Given the description of an element on the screen output the (x, y) to click on. 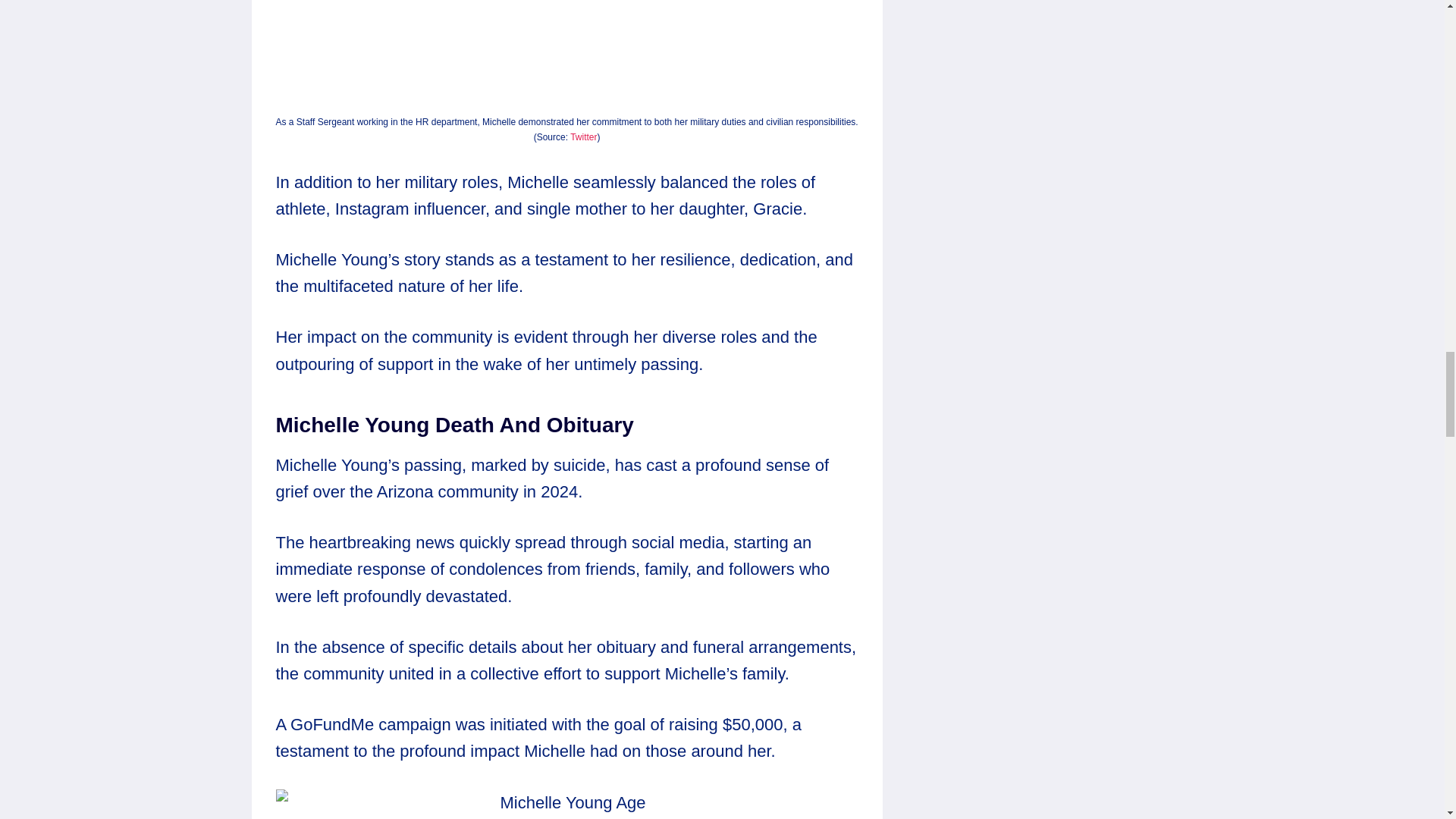
Twitter (583, 136)
